Given the description of an element on the screen output the (x, y) to click on. 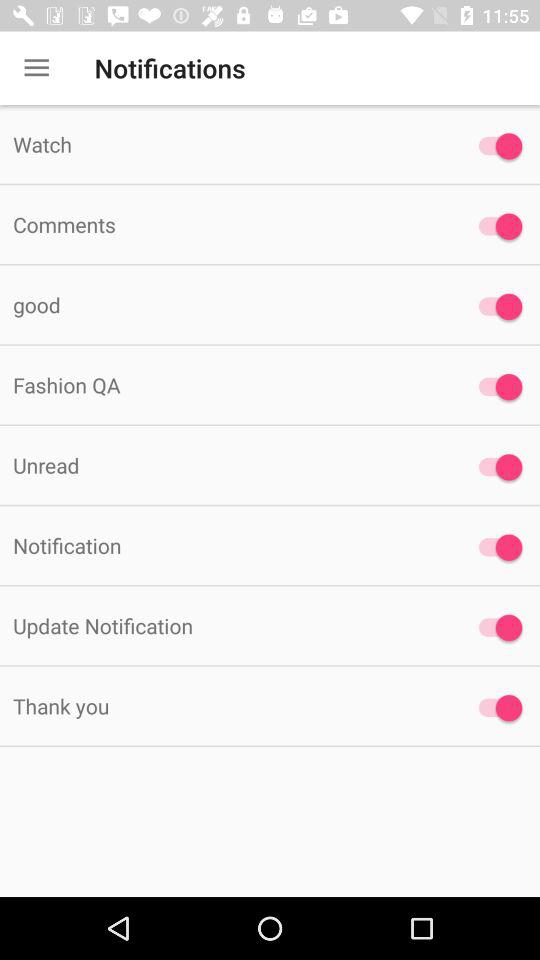
tap icon below the fashion qa (225, 464)
